Given the description of an element on the screen output the (x, y) to click on. 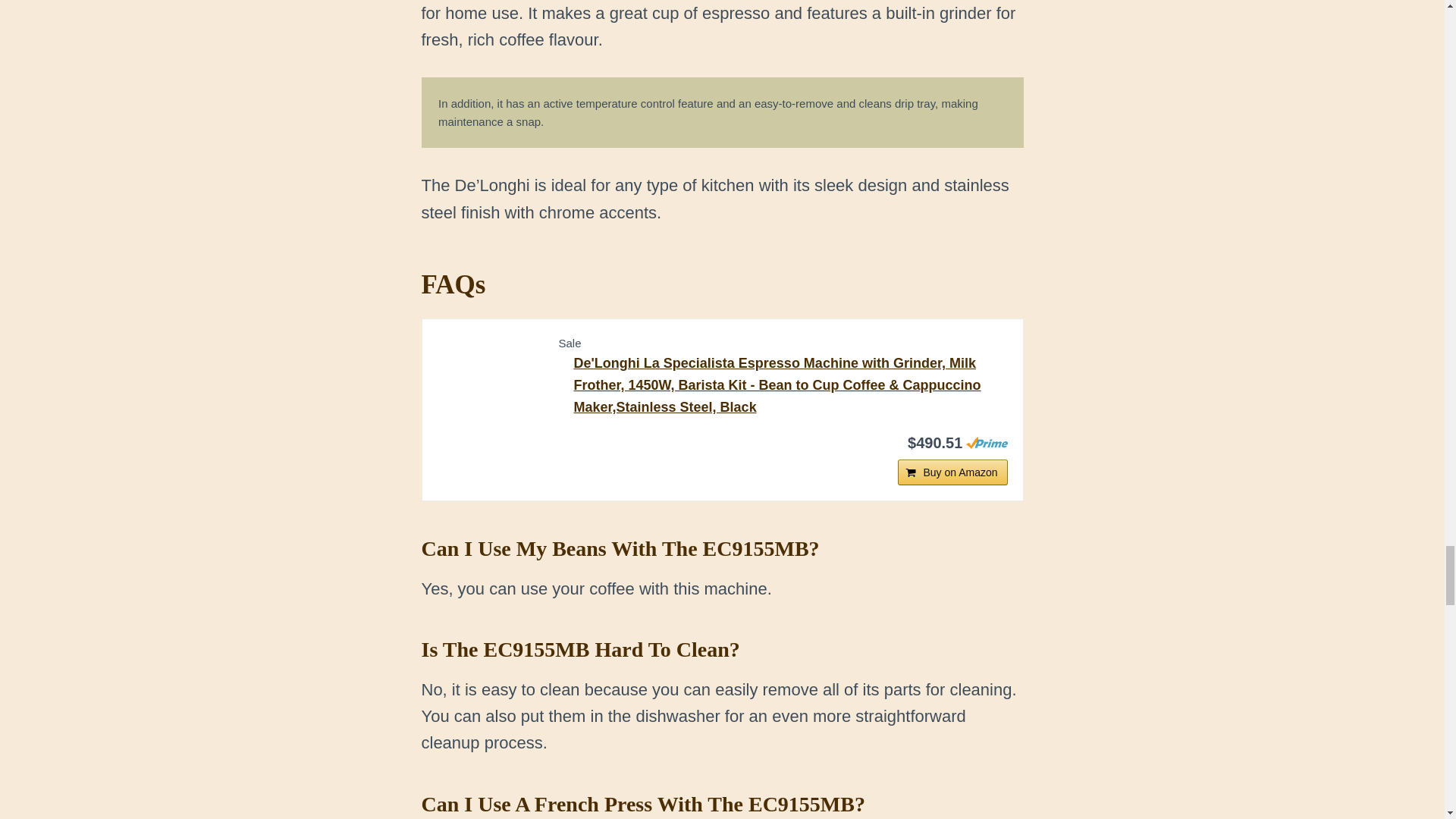
Buy on Amazon (952, 472)
Amazon Prime (986, 442)
Buy on Amazon (952, 472)
